Given the description of an element on the screen output the (x, y) to click on. 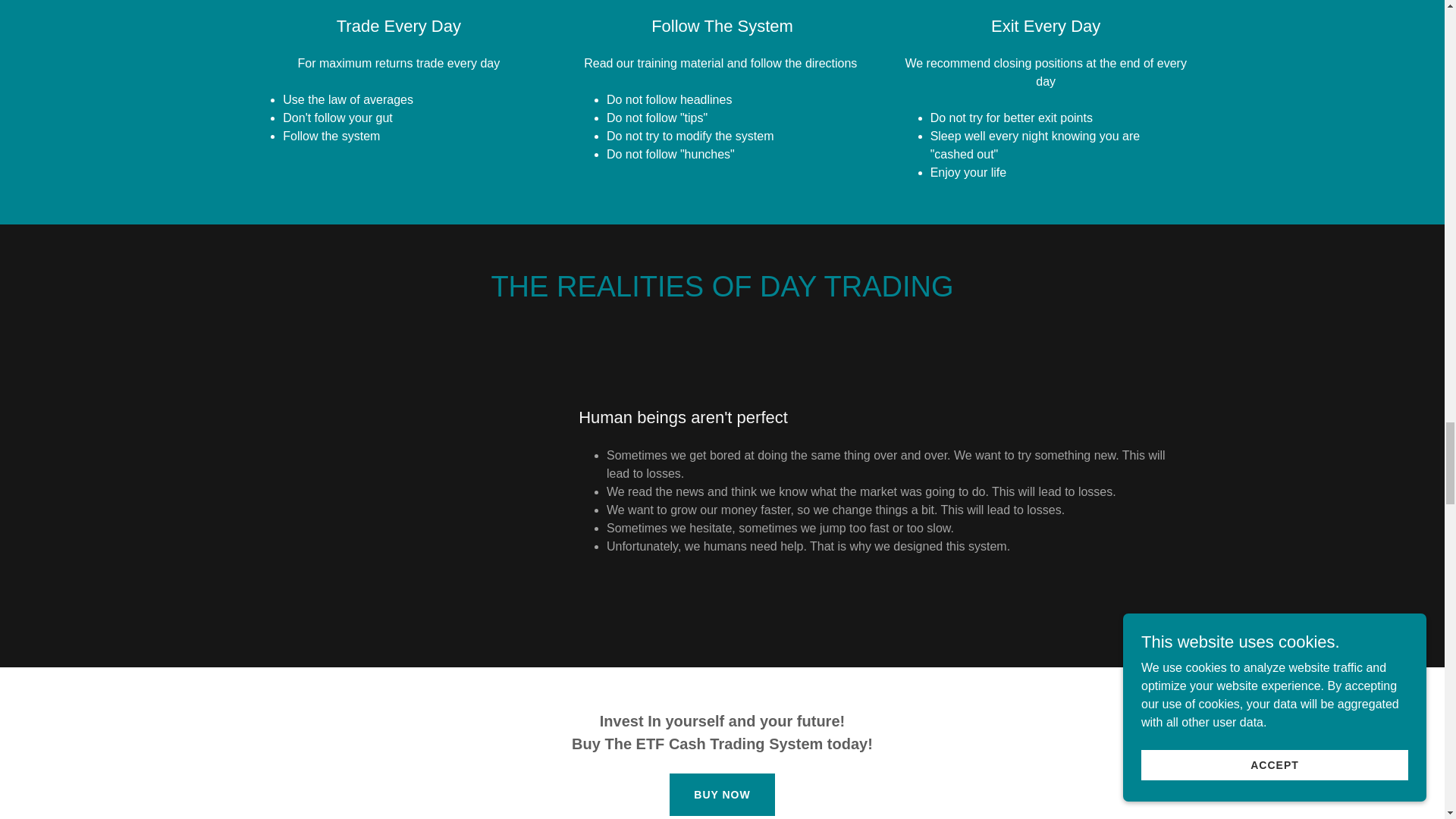
BUY NOW (721, 794)
